Given the description of an element on the screen output the (x, y) to click on. 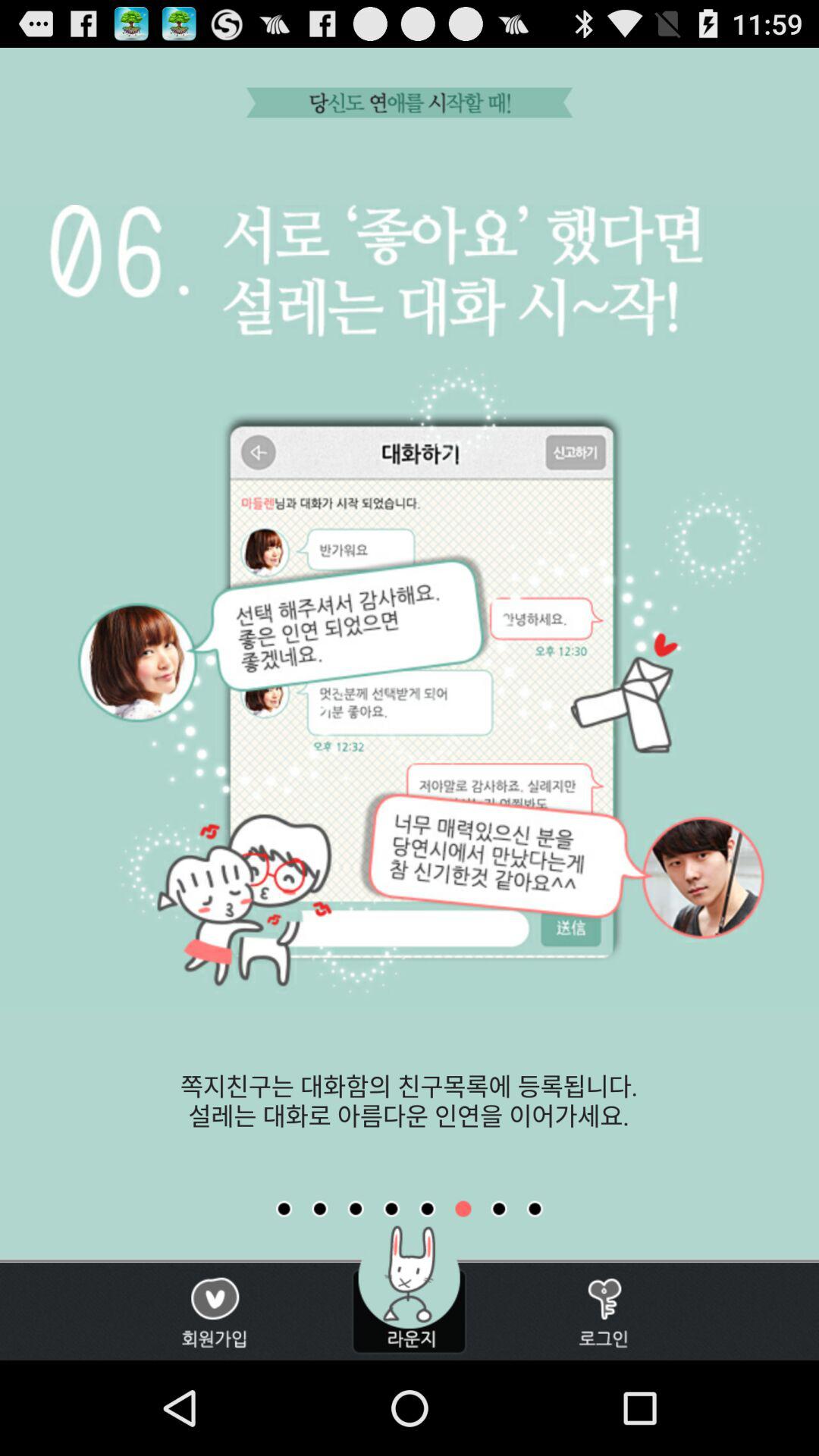
pass image (463, 1208)
